Given the description of an element on the screen output the (x, y) to click on. 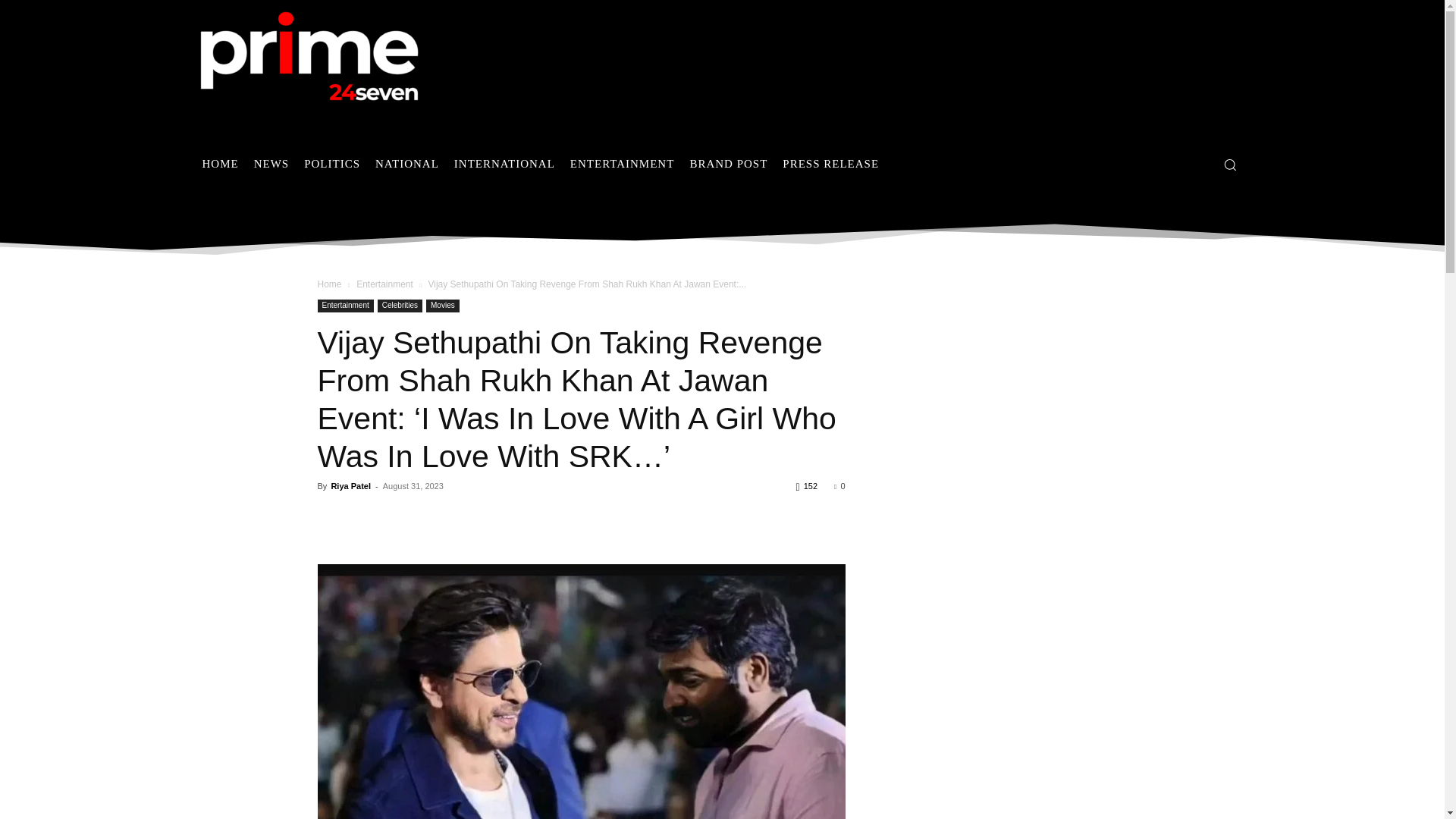
Entertainment (384, 284)
Celebrities (399, 305)
HOME (219, 163)
NATIONAL (407, 163)
Movies (443, 305)
0 (839, 485)
POLITICS (332, 163)
BRAND POST (727, 163)
Entertainment (344, 305)
